Given the description of an element on the screen output the (x, y) to click on. 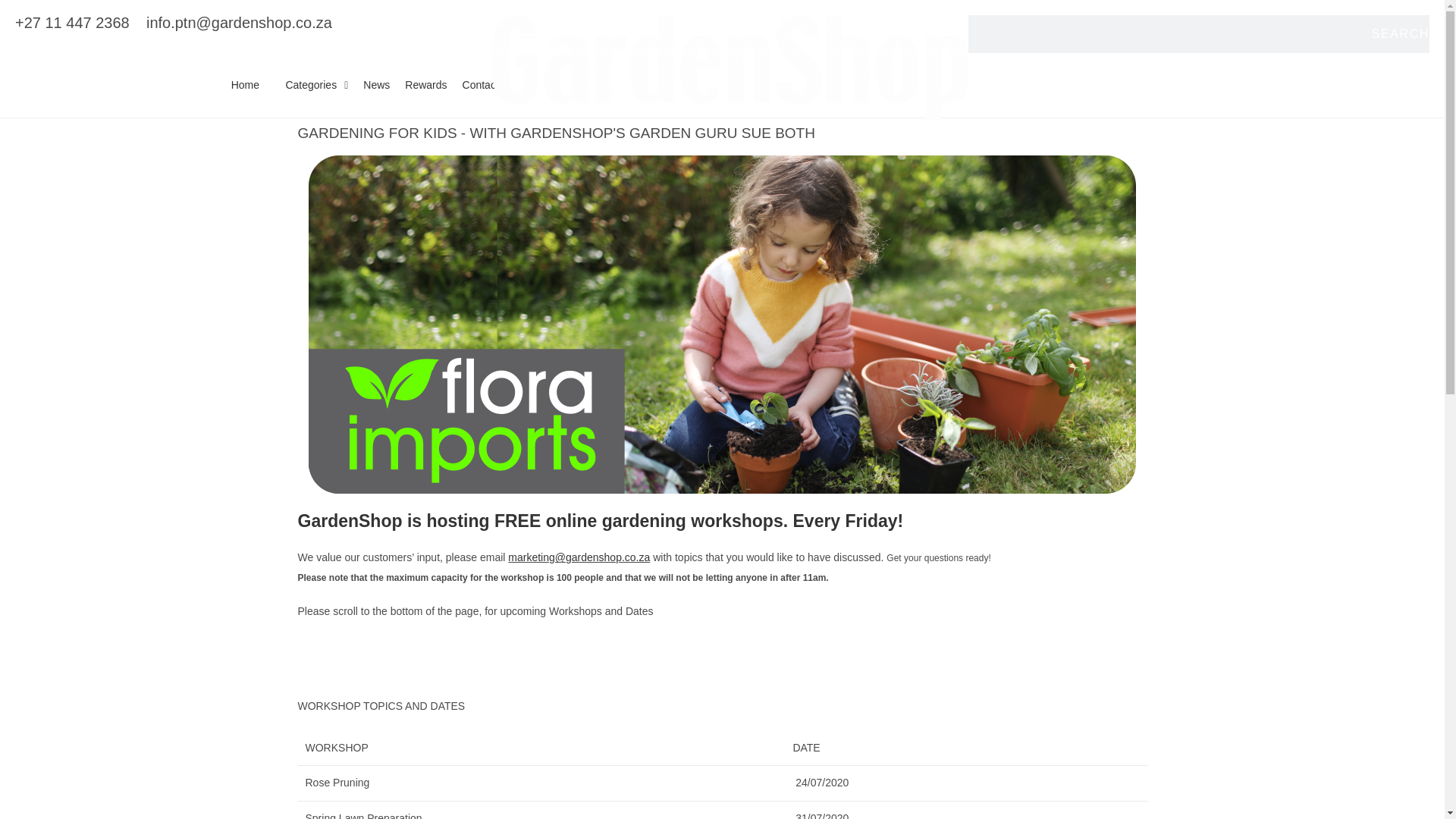
Contact (480, 84)
News (376, 84)
SEARCH (1400, 34)
Home (245, 84)
Rewards (425, 84)
Categories (310, 84)
